Given the description of an element on the screen output the (x, y) to click on. 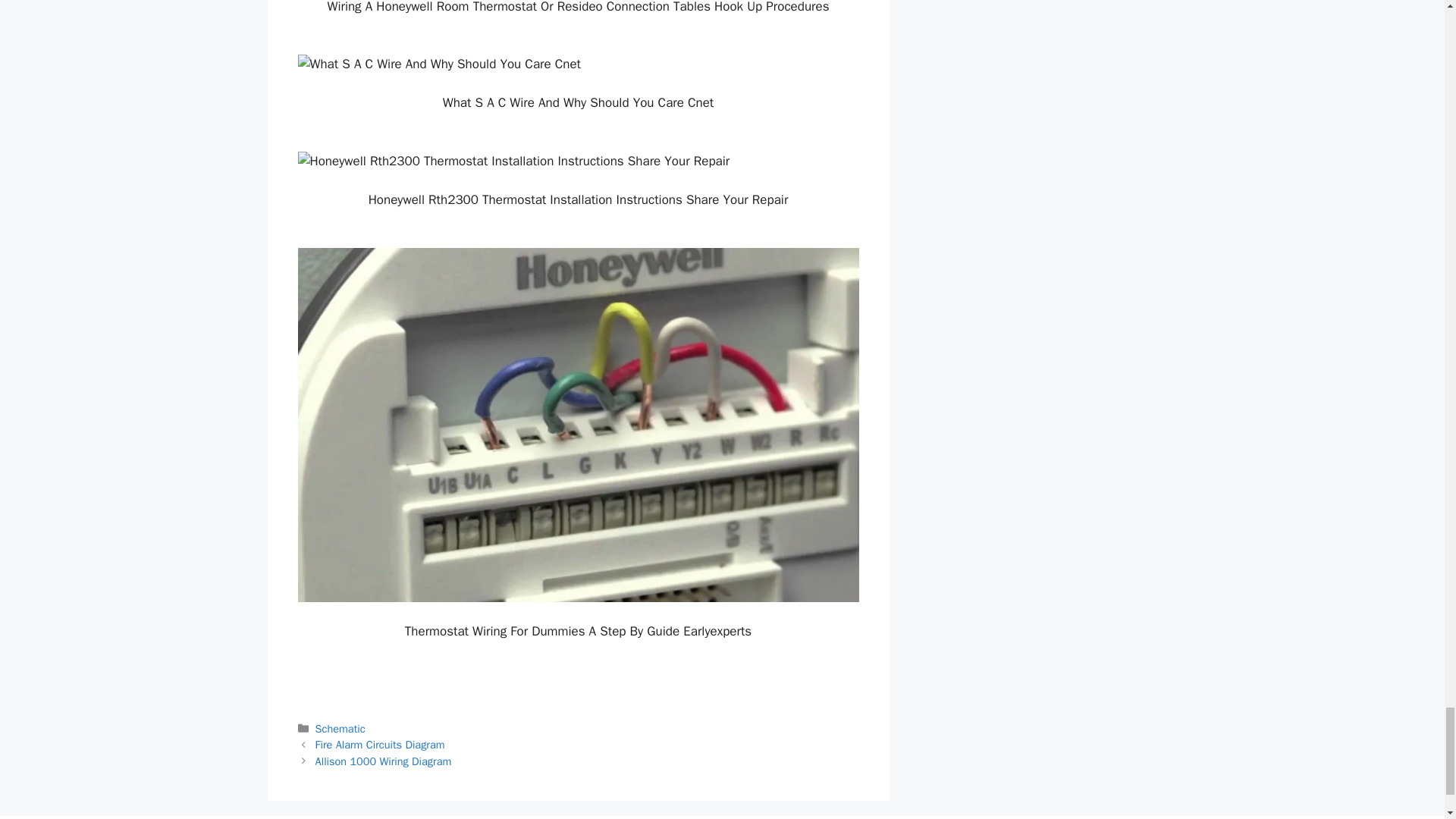
Allison 1000 Wiring Diagram (383, 761)
What S A C Wire And Why Should You Care Cnet (578, 64)
Schematic (340, 728)
Fire Alarm Circuits Diagram (380, 744)
